Given the description of an element on the screen output the (x, y) to click on. 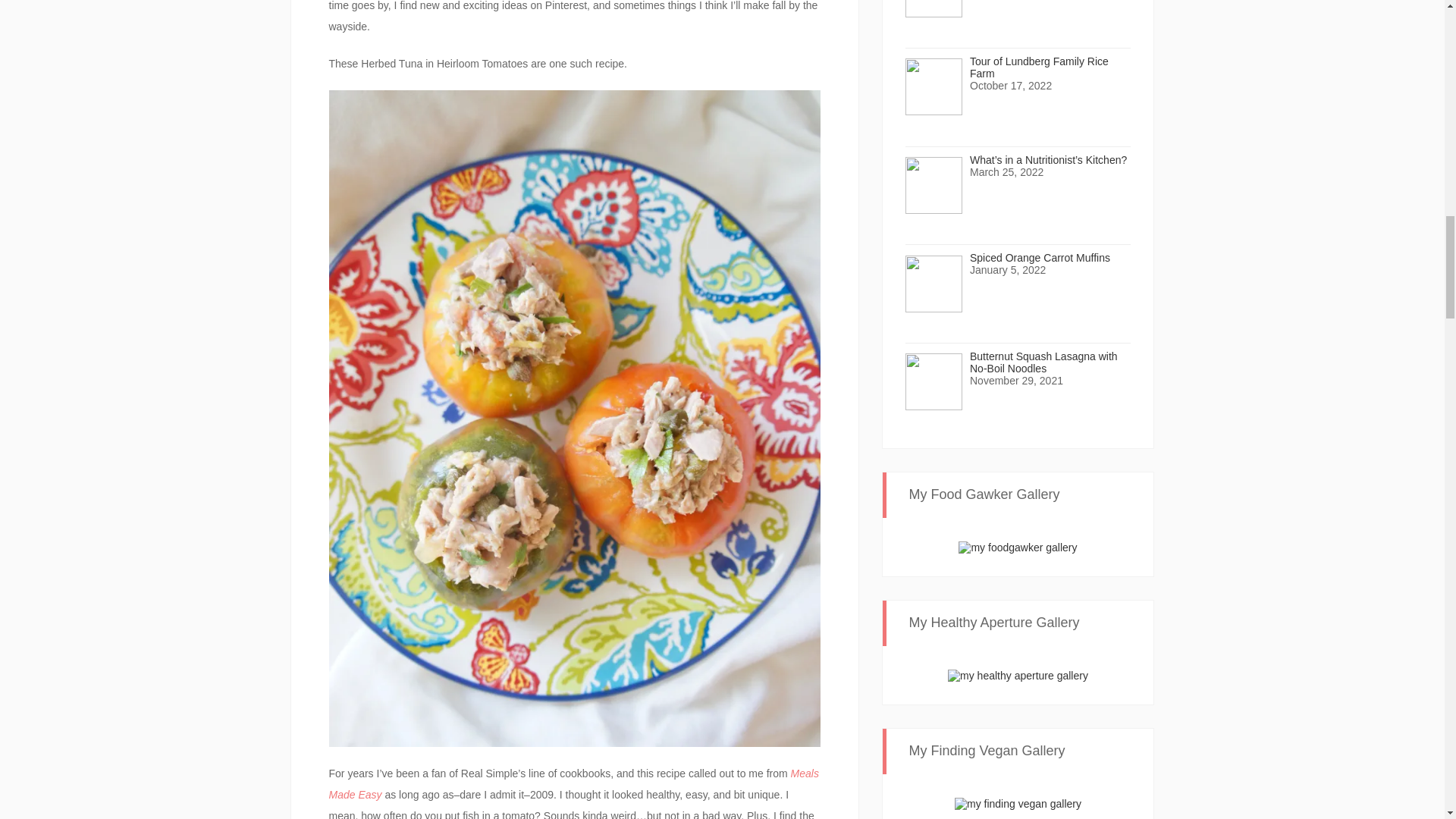
my finding vegan gallery (1018, 802)
my healthy aperture gallery (1017, 674)
my foodgawker gallery (1017, 546)
Meals Made Easy (573, 783)
